Given the description of an element on the screen output the (x, y) to click on. 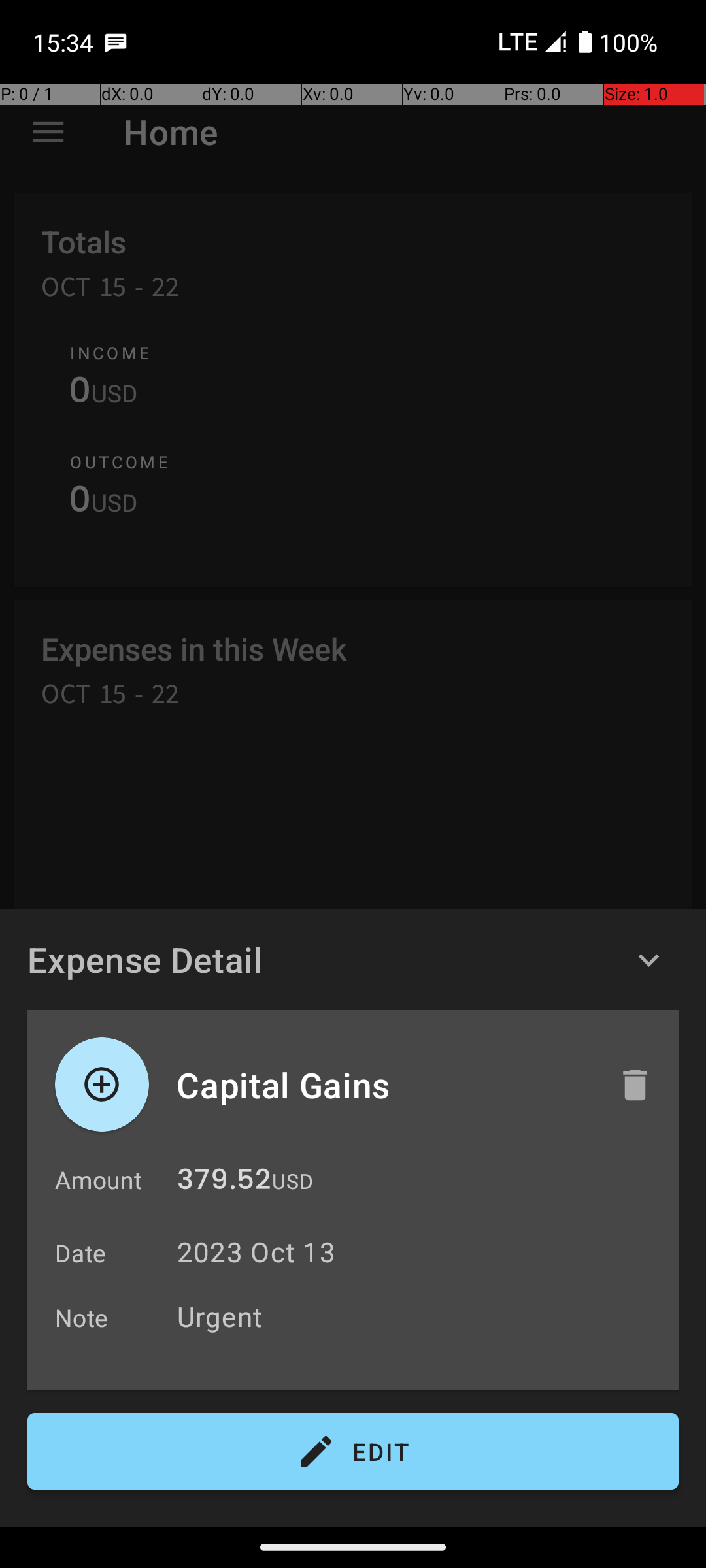
Capital Gains Element type: android.widget.TextView (383, 1084)
379.52 Element type: android.widget.TextView (223, 1182)
